Given the description of an element on the screen output the (x, y) to click on. 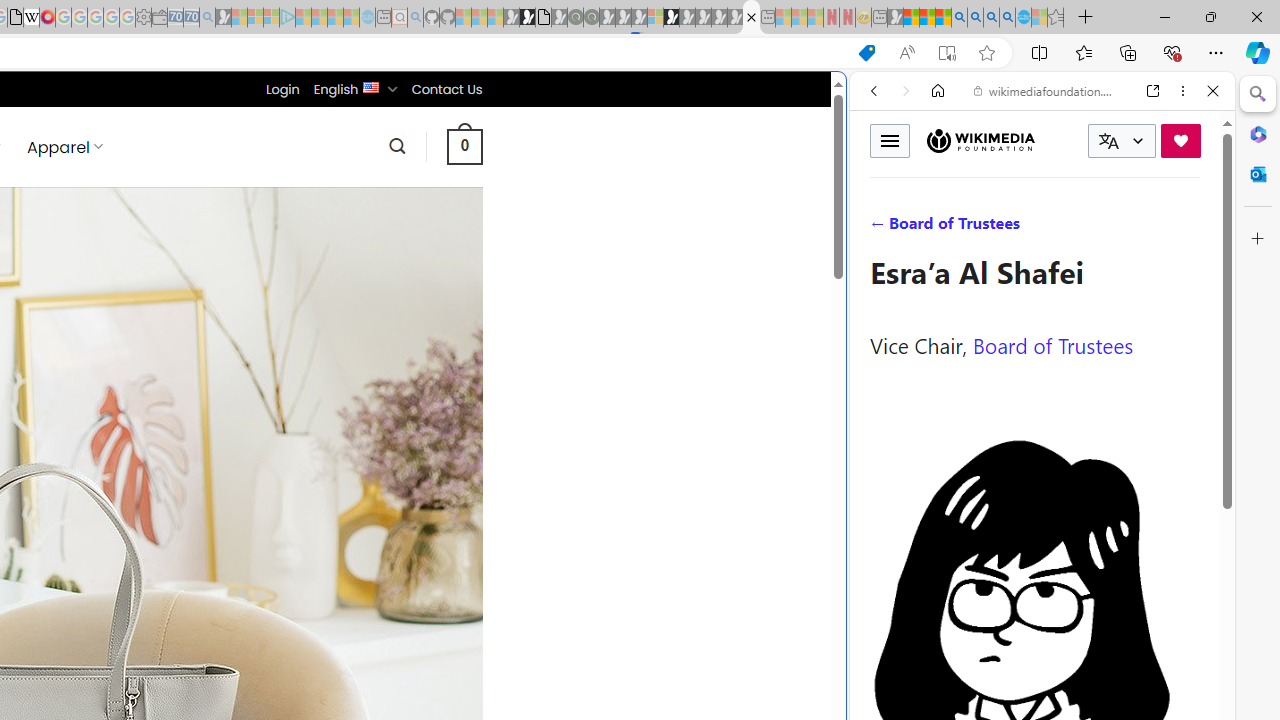
Class: i icon icon-translate language-switcher__icon (1108, 141)
Wikimedia Foundation (980, 140)
Nordace - Pollina Vegan Leather Collection (751, 17)
Board of Trustees (1053, 344)
Play Cave FRVR in your browser | Games from Microsoft Start (343, 426)
  0   (464, 146)
 0  (464, 146)
